Given the description of an element on the screen output the (x, y) to click on. 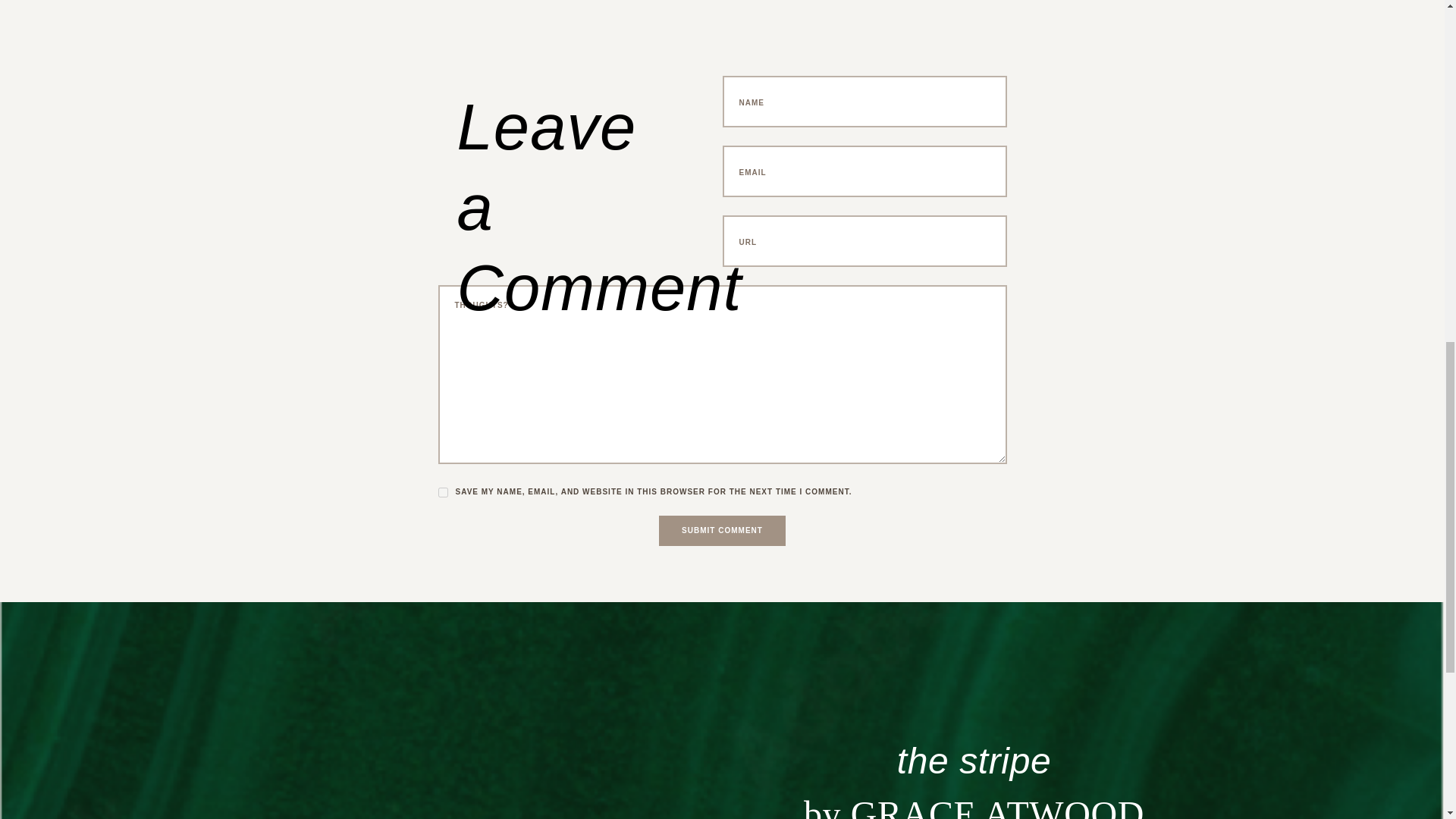
yes (443, 492)
Submit Comment (722, 530)
